Given the description of an element on the screen output the (x, y) to click on. 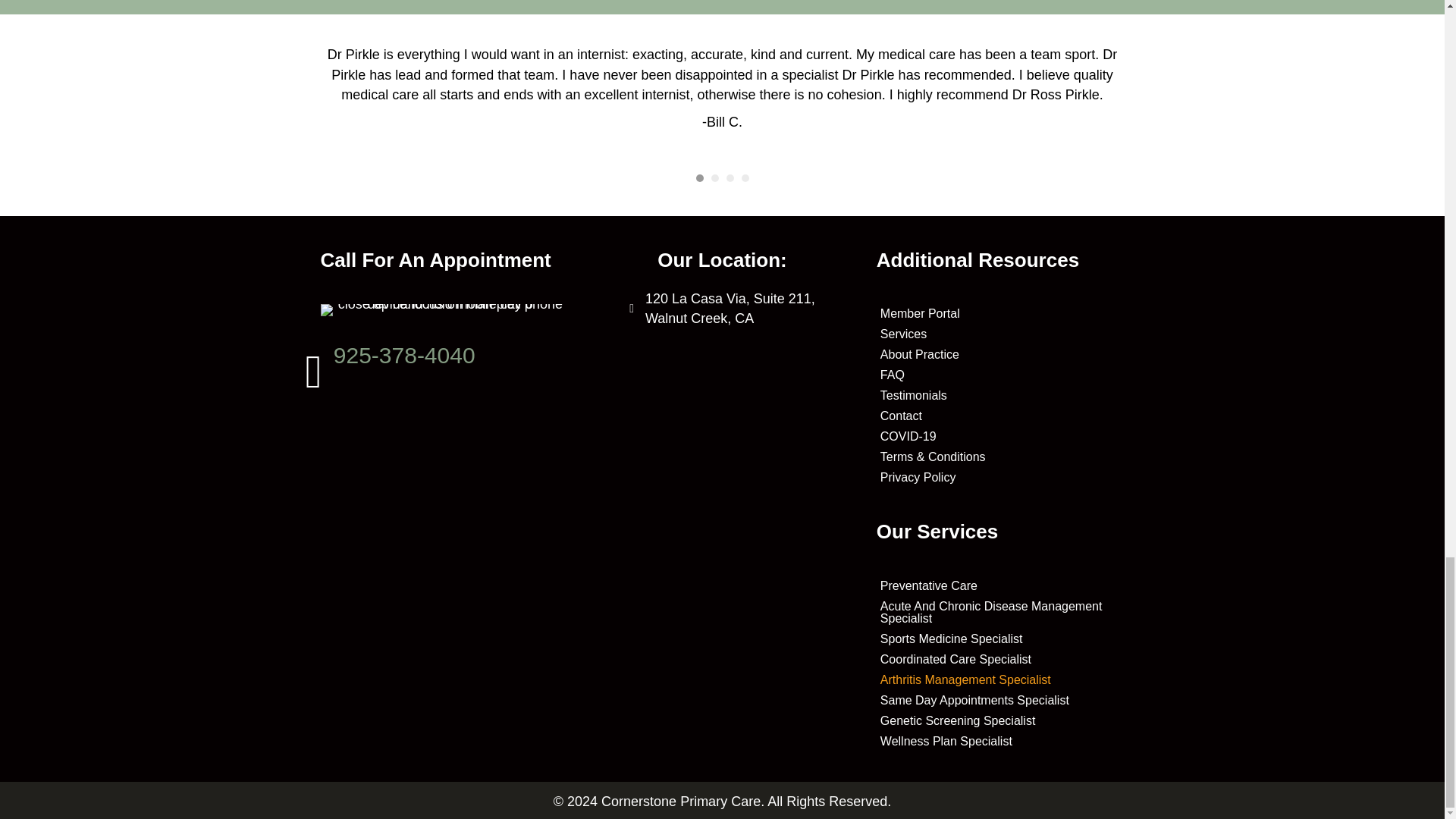
Contact (1000, 415)
FAQ (1000, 374)
Testimonials (1000, 395)
Member Portal (1000, 313)
Privacy Policy (730, 308)
3 (1000, 477)
About Practice (729, 177)
COVID-19 (1000, 354)
1 (1000, 436)
